Given the description of an element on the screen output the (x, y) to click on. 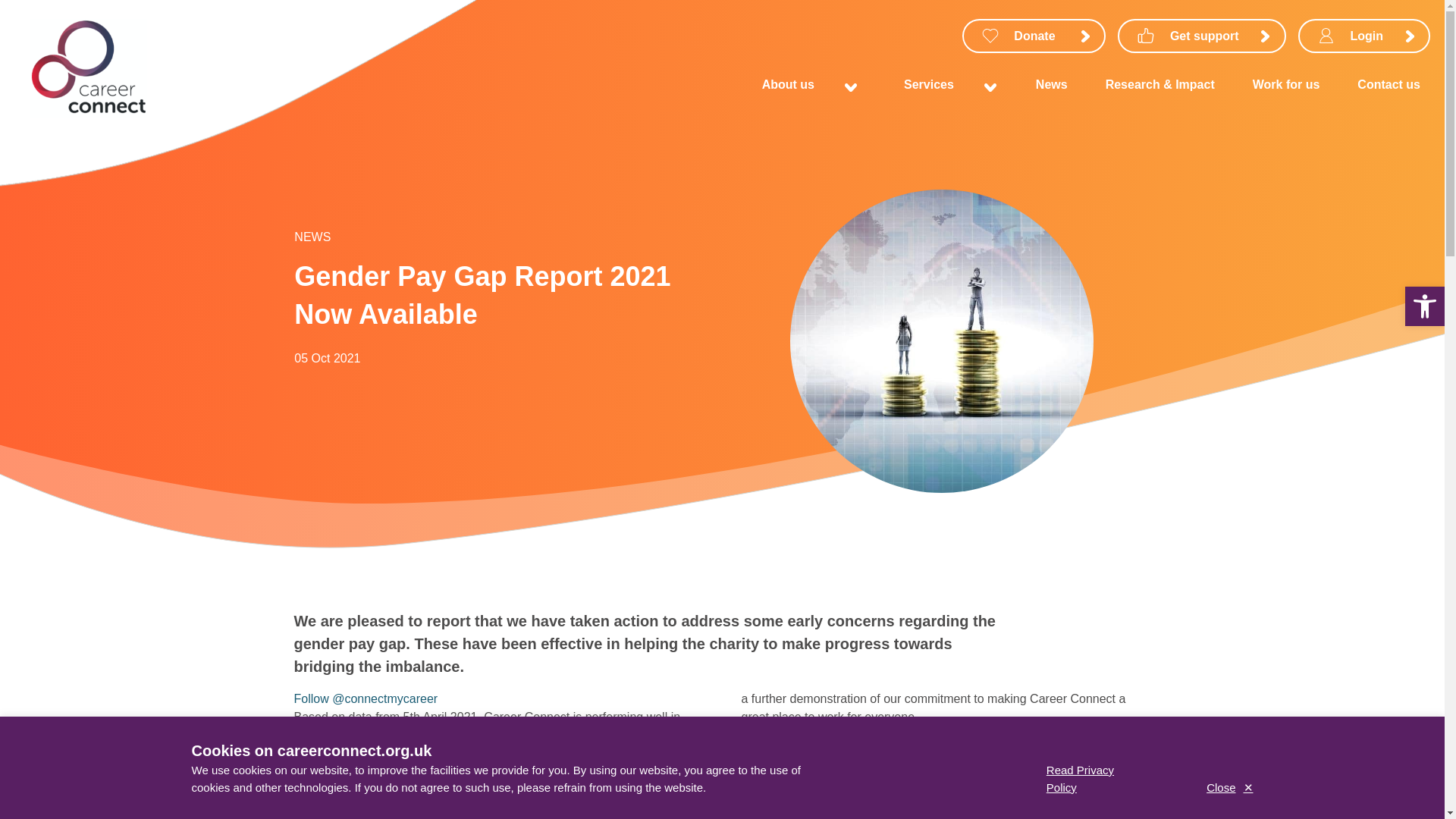
About us (791, 83)
Services (932, 83)
Accessibility Tools (1424, 306)
